Given the description of an element on the screen output the (x, y) to click on. 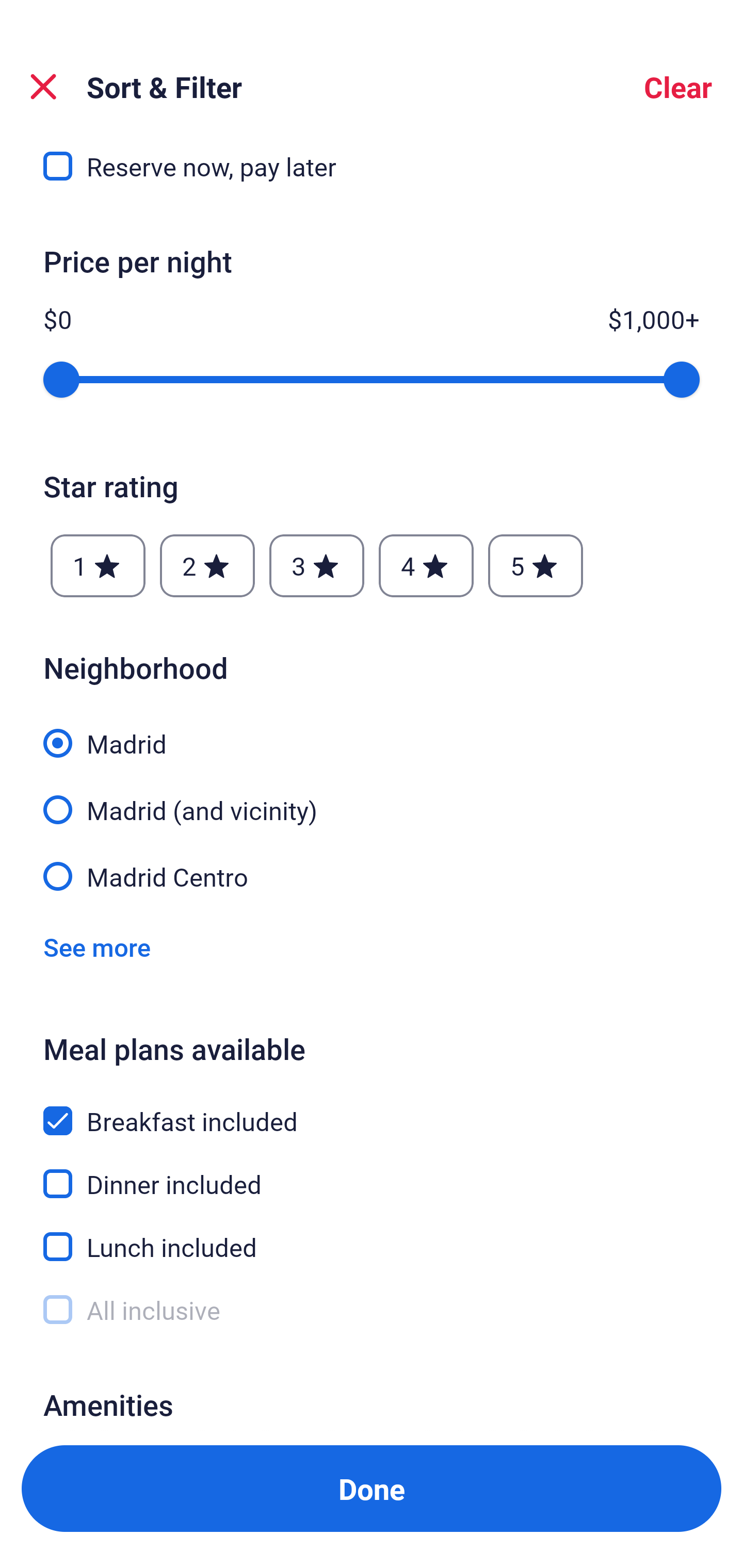
Close Sort and Filter (43, 86)
Clear (677, 86)
Reserve now, pay later, Reserve now, pay later (371, 170)
1 (97, 565)
2 (206, 565)
3 (316, 565)
4 (426, 565)
5 (535, 565)
Madrid (and vicinity) (371, 798)
Madrid Centro (371, 875)
See more See more neighborhoods Link (96, 946)
Breakfast included, Breakfast included (371, 1109)
Dinner included, Dinner included (371, 1172)
Lunch included, Lunch included (371, 1235)
All inclusive, All inclusive (371, 1309)
Apply and close Sort and Filter Done (371, 1488)
